Given the description of an element on the screen output the (x, y) to click on. 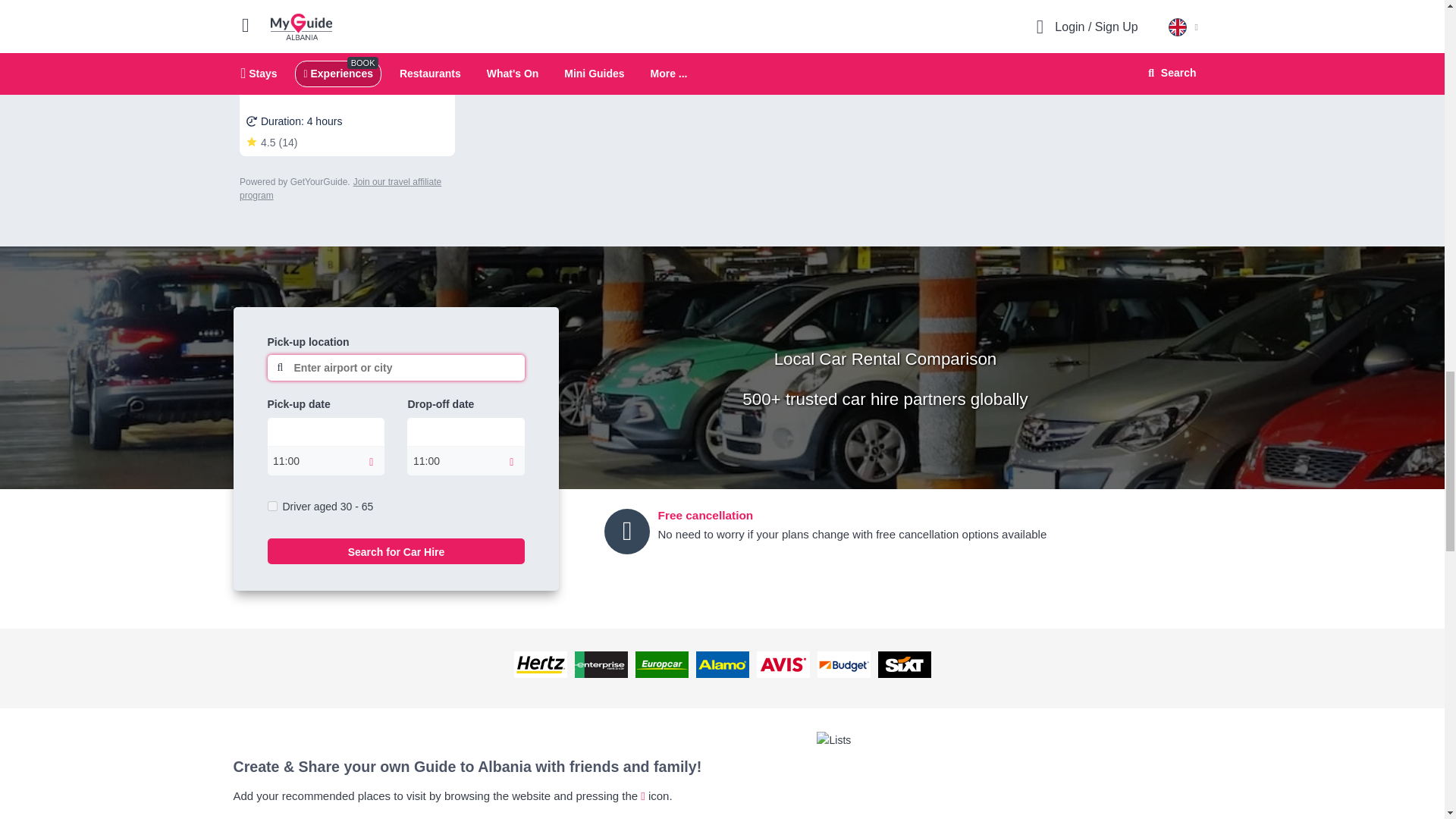
GetYourGuide Widget (346, 100)
on (271, 506)
